Given the description of an element on the screen output the (x, y) to click on. 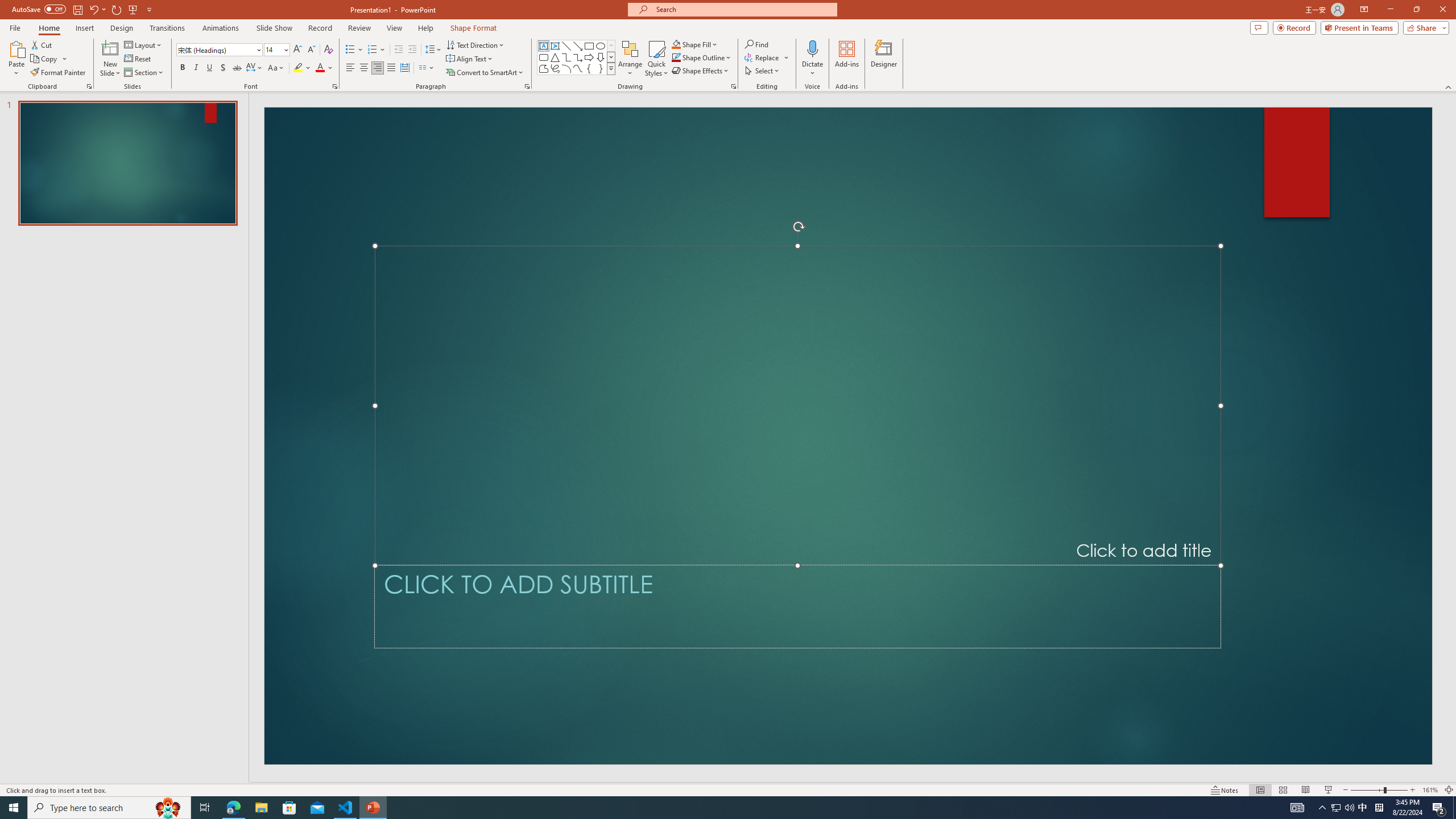
Zoom 161% (1430, 790)
